Given the description of an element on the screen output the (x, y) to click on. 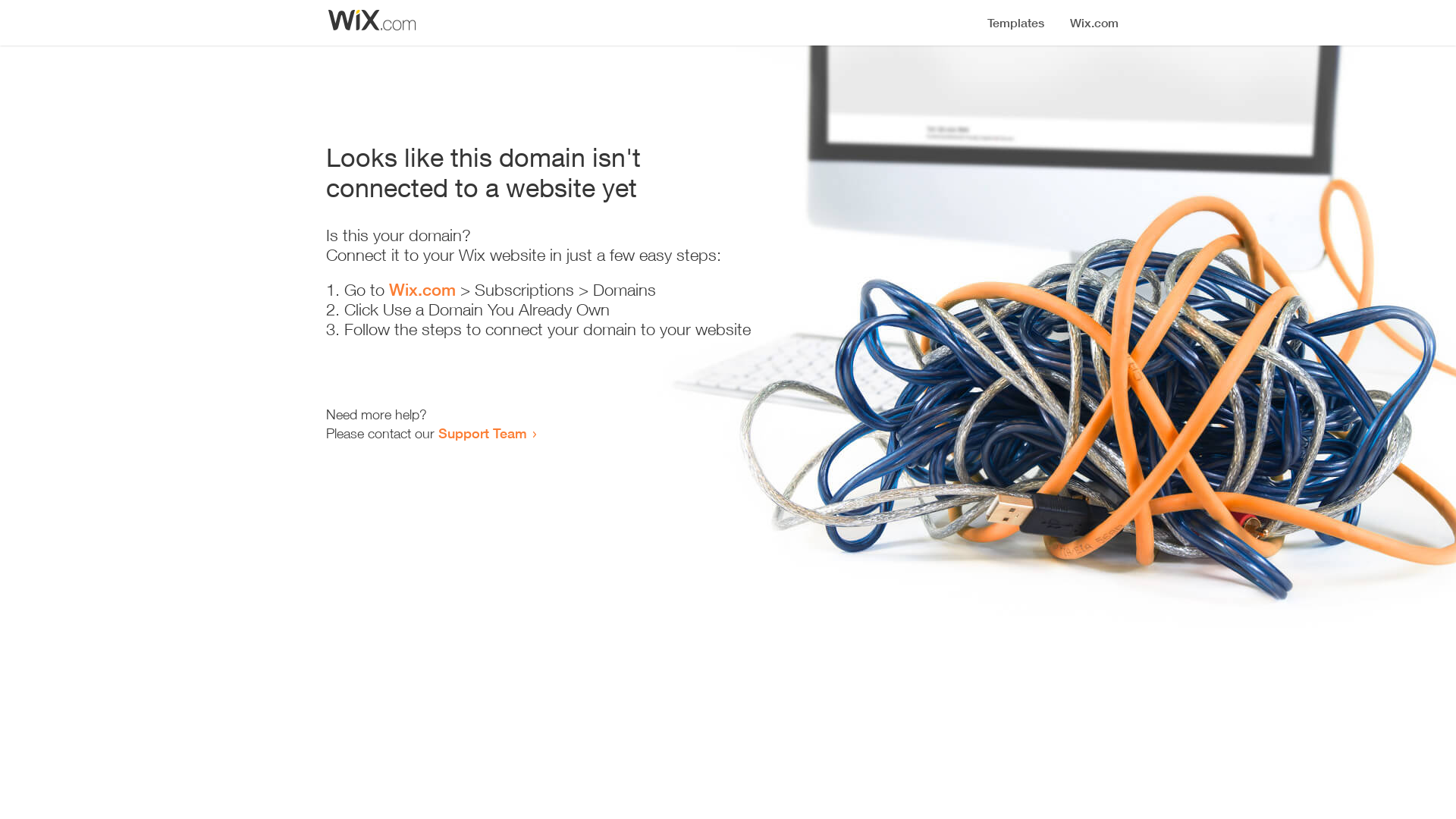
Support Team Element type: text (482, 432)
Wix.com Element type: text (422, 289)
